Given the description of an element on the screen output the (x, y) to click on. 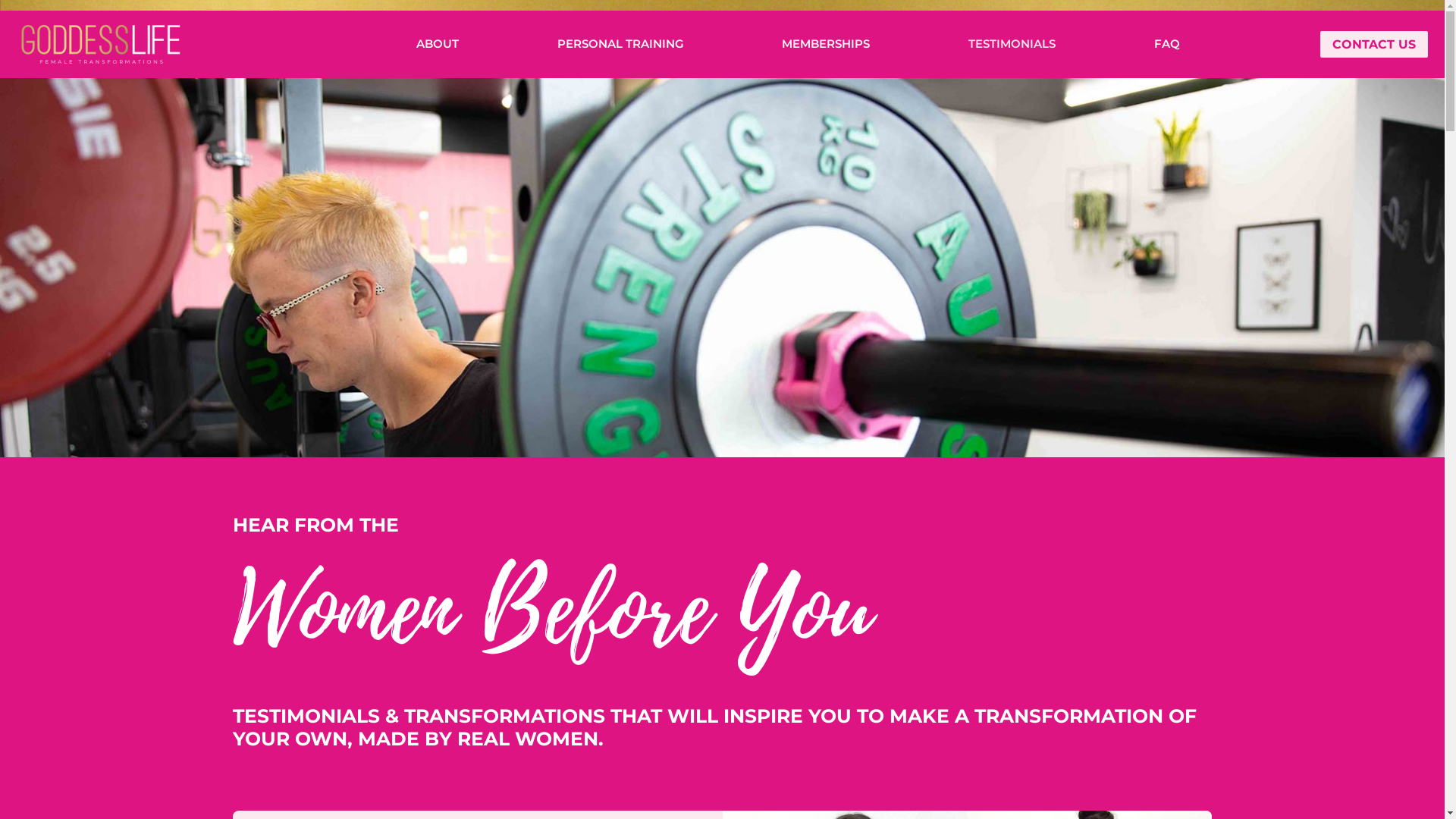
CONTACT US Element type: text (1373, 44)
FAQ Element type: text (1166, 44)
ABOUT Element type: text (437, 44)
TESTIMONIALS Element type: text (1011, 44)
PERSONAL TRAINING Element type: text (620, 44)
MEMBERSHIPS Element type: text (825, 44)
